Given the description of an element on the screen output the (x, y) to click on. 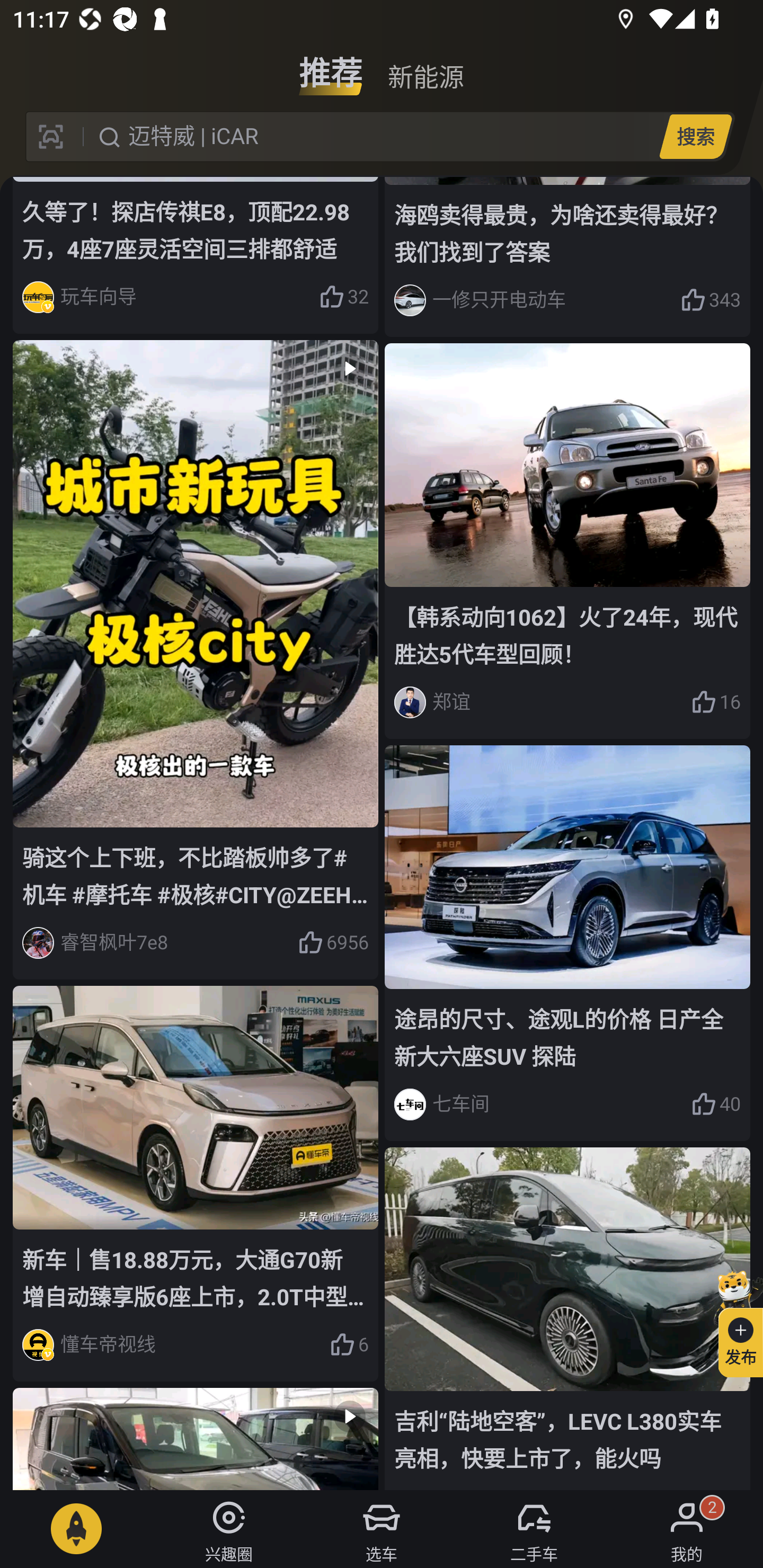
推荐 (330, 65)
新能源 (425, 65)
搜索 (695, 136)
久等了！探店传祺E8，顶配22.98万，4座7座灵活空间三排都舒适 玩车向导 32 (195, 255)
海鸥卖得最贵，为啥还卖得最好？我们找到了答案 一修只开电动车 343 (567, 257)
32 (343, 296)
343 (710, 299)
【韩系动向1062】火了24年，现代胜达5代车型回顾！ 郑谊 16 (567, 540)
16 (715, 701)
途昂的尺寸、途观L的价格 日产全新大六座SUV 探陆 七车间 40 (567, 942)
6956 (332, 942)
新车｜售18.88万元，大通G70新增自动臻享版6座上市，2.0T中型MPV 懂车帝视线 6 (195, 1183)
40 (715, 1104)
吉利“陆地空客”，LEVC L380实车亮相，快要上市了，能火吗 (567, 1318)
发布 (732, 1321)
6 (348, 1344)
 兴趣圈 (228, 1528)
 选车 (381, 1528)
 二手车 (533, 1528)
 我的 (686, 1528)
